Given the description of an element on the screen output the (x, y) to click on. 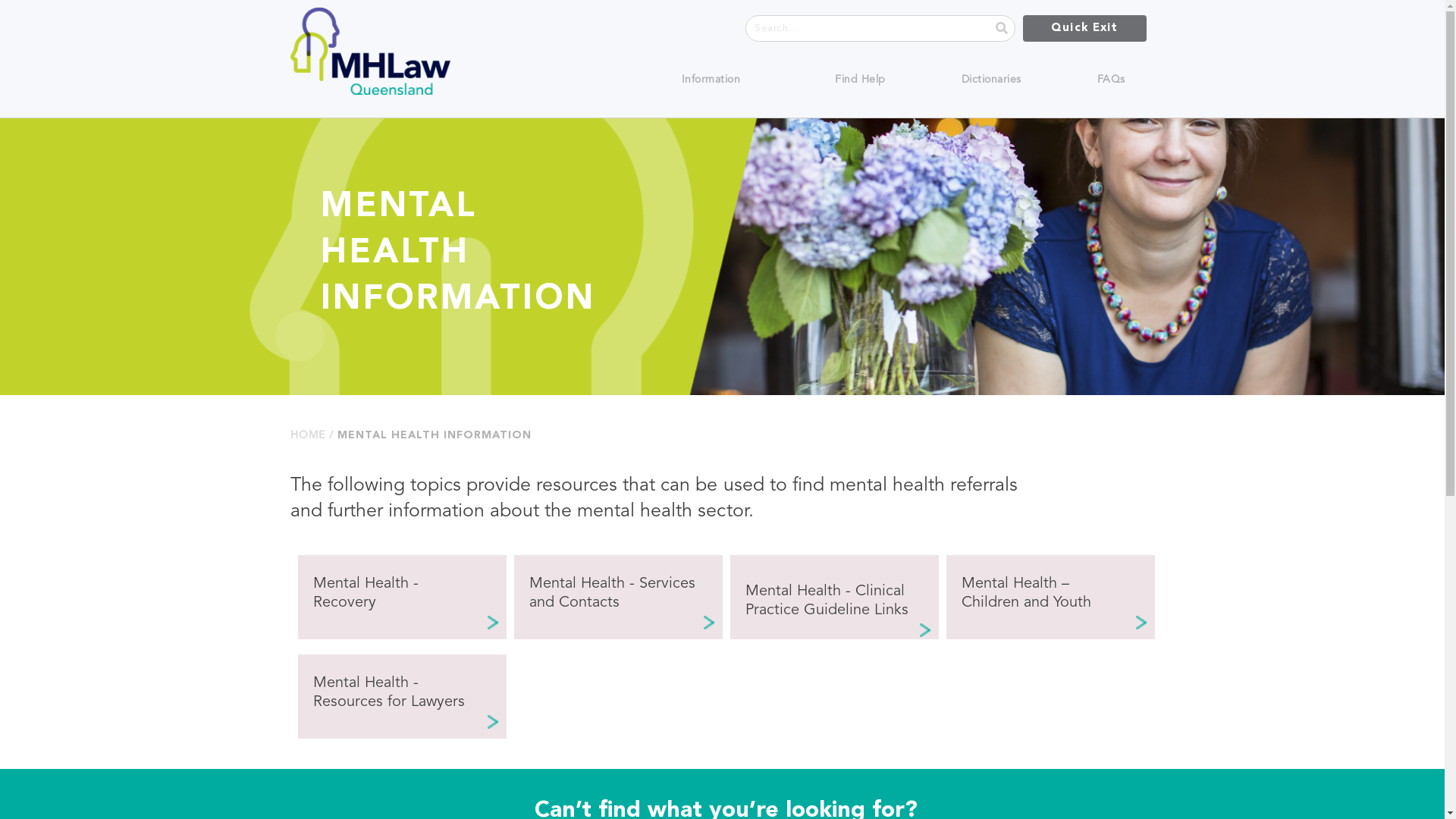
FAQs Element type: text (1111, 79)
HOME Element type: text (306, 434)
Dictionaries Element type: text (991, 79)
Search Element type: hover (1001, 27)
Information Element type: text (712, 79)
Find Help Element type: text (859, 79)
Quick Exit Element type: text (1084, 28)
Search Element type: hover (867, 27)
